Given the description of an element on the screen output the (x, y) to click on. 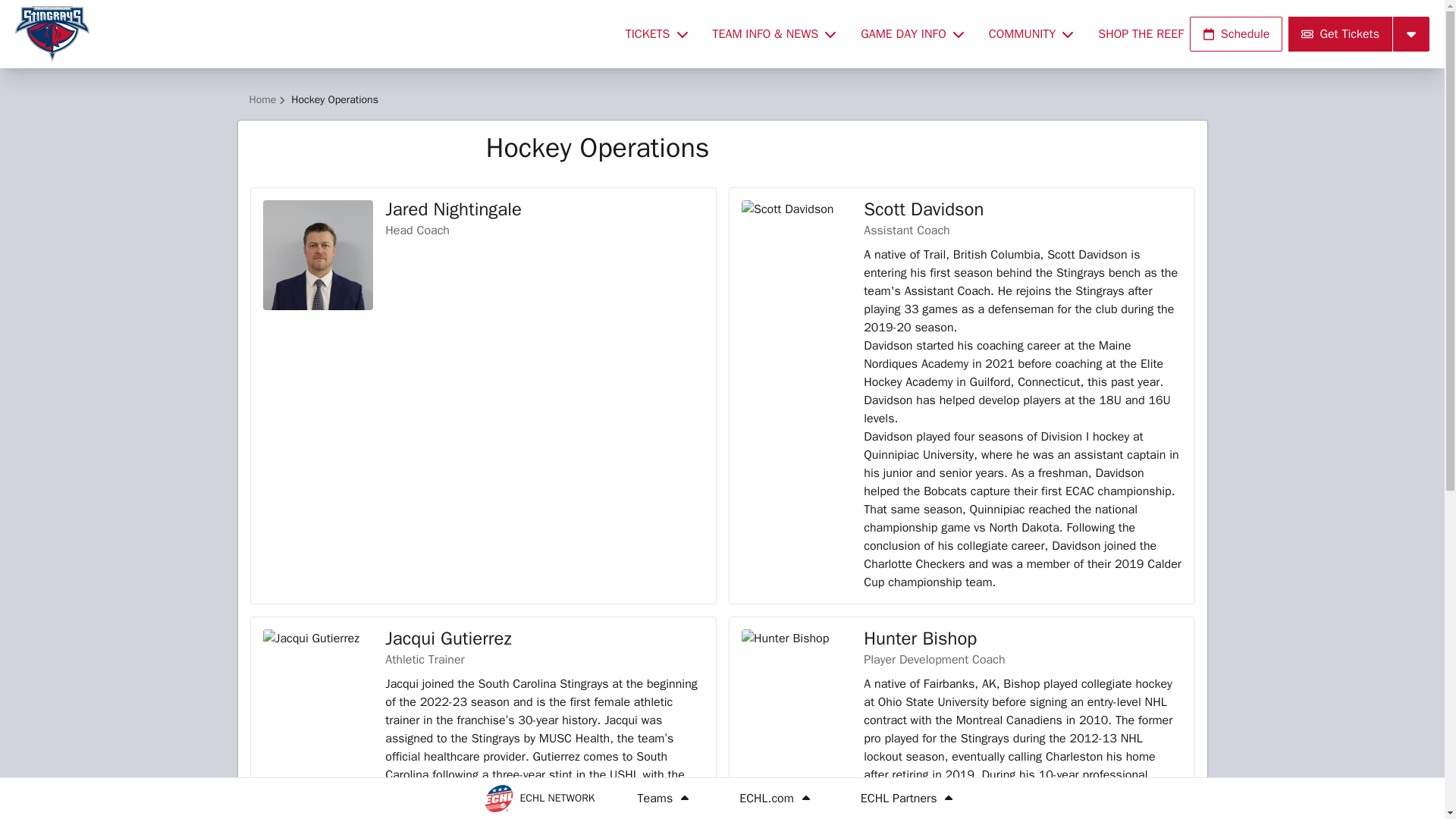
COMMUNITY (1031, 33)
GAME DAY INFO (912, 33)
South Carolina Stingrays (310, 33)
TICKETS (657, 33)
